Given the description of an element on the screen output the (x, y) to click on. 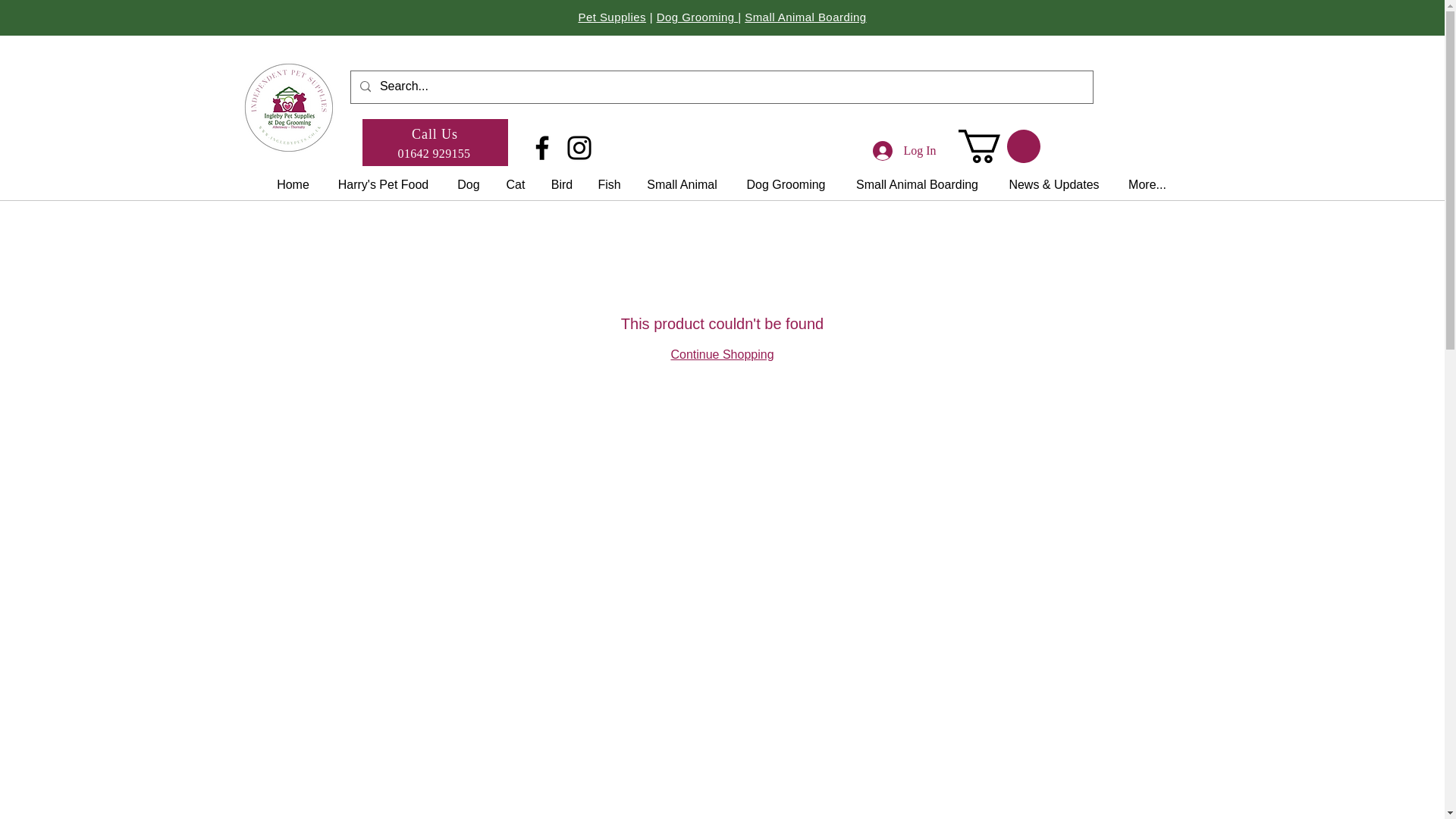
Pet Supplies (612, 16)
Home (293, 184)
Dog Grooming (697, 16)
Log In (903, 150)
Harry's Pet Food (383, 184)
Small Animal Boarding (805, 16)
